Given the description of an element on the screen output the (x, y) to click on. 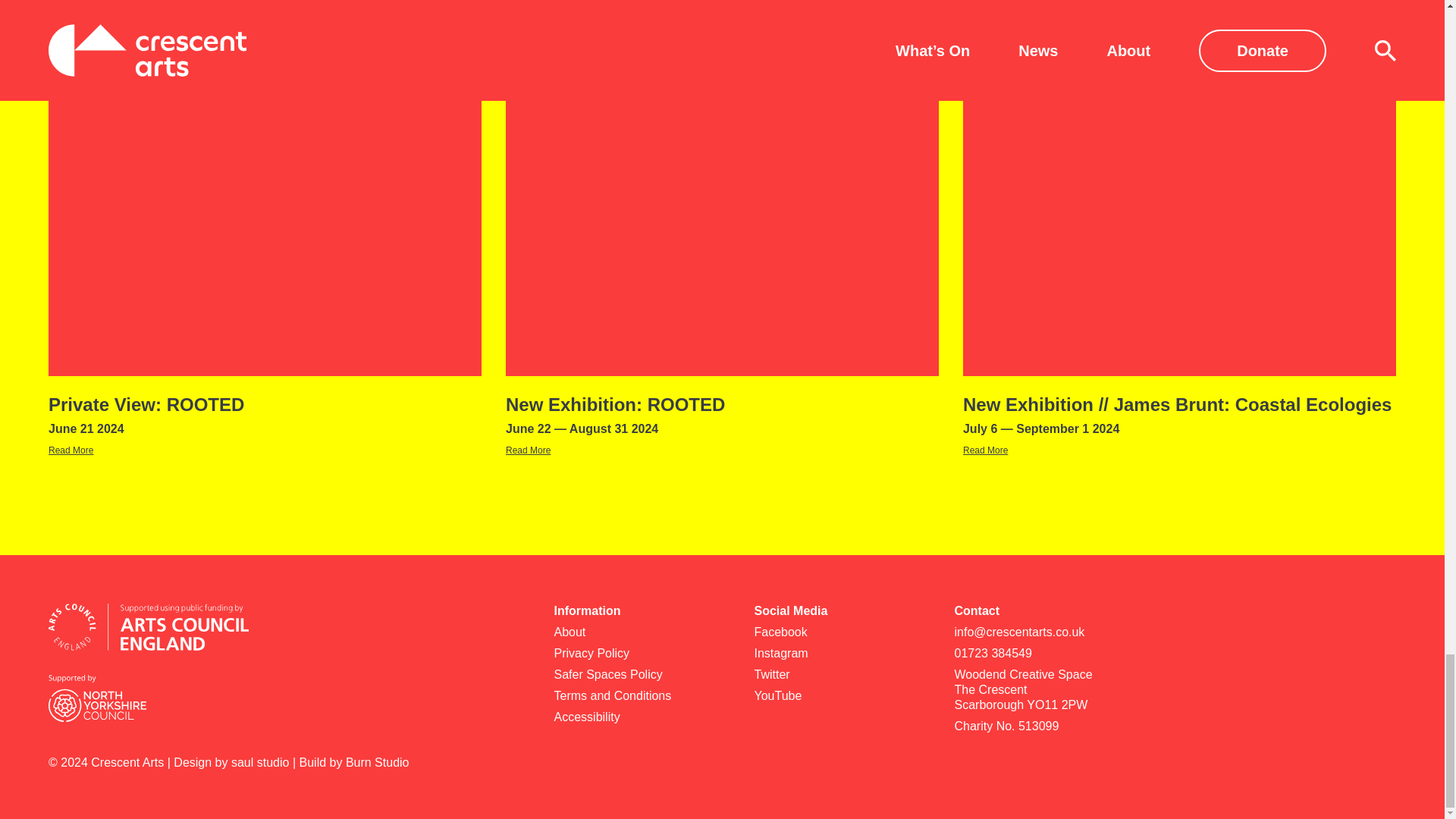
Accessibility (641, 717)
Safer Spaces Policy (641, 674)
Read More (527, 450)
Instagram (264, 414)
Privacy Policy (842, 653)
Read More (641, 653)
Twitter (70, 450)
Facebook (842, 674)
Read More (1041, 689)
Terms and Conditions (842, 631)
01723 384549 (984, 450)
About (641, 695)
YouTube (1041, 653)
